Given the description of an element on the screen output the (x, y) to click on. 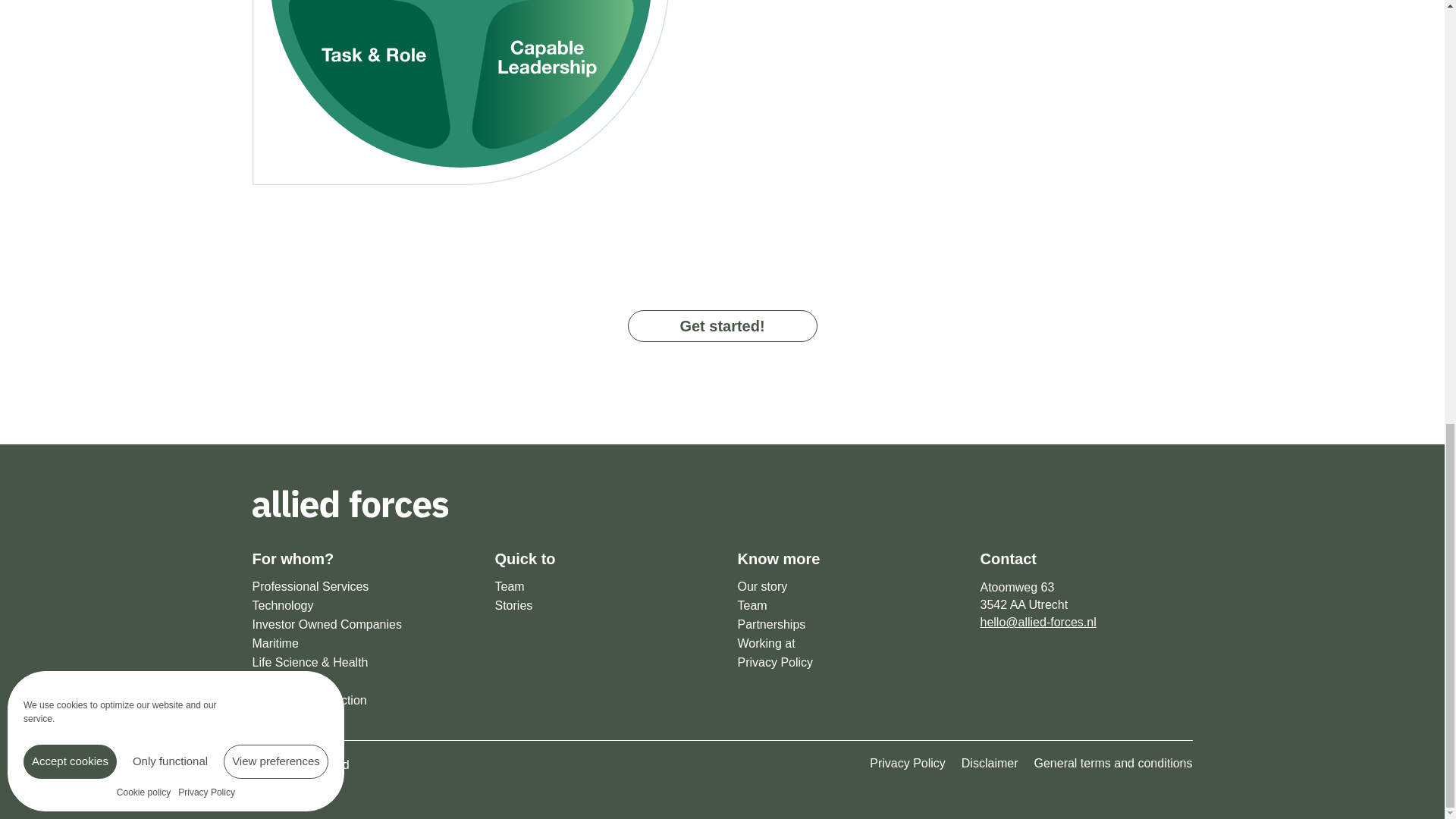
Professional Services (357, 587)
Get started! (721, 326)
Technology (357, 606)
Maritime (357, 643)
Investor Owned Companies (357, 624)
Government (357, 681)
